Given the description of an element on the screen output the (x, y) to click on. 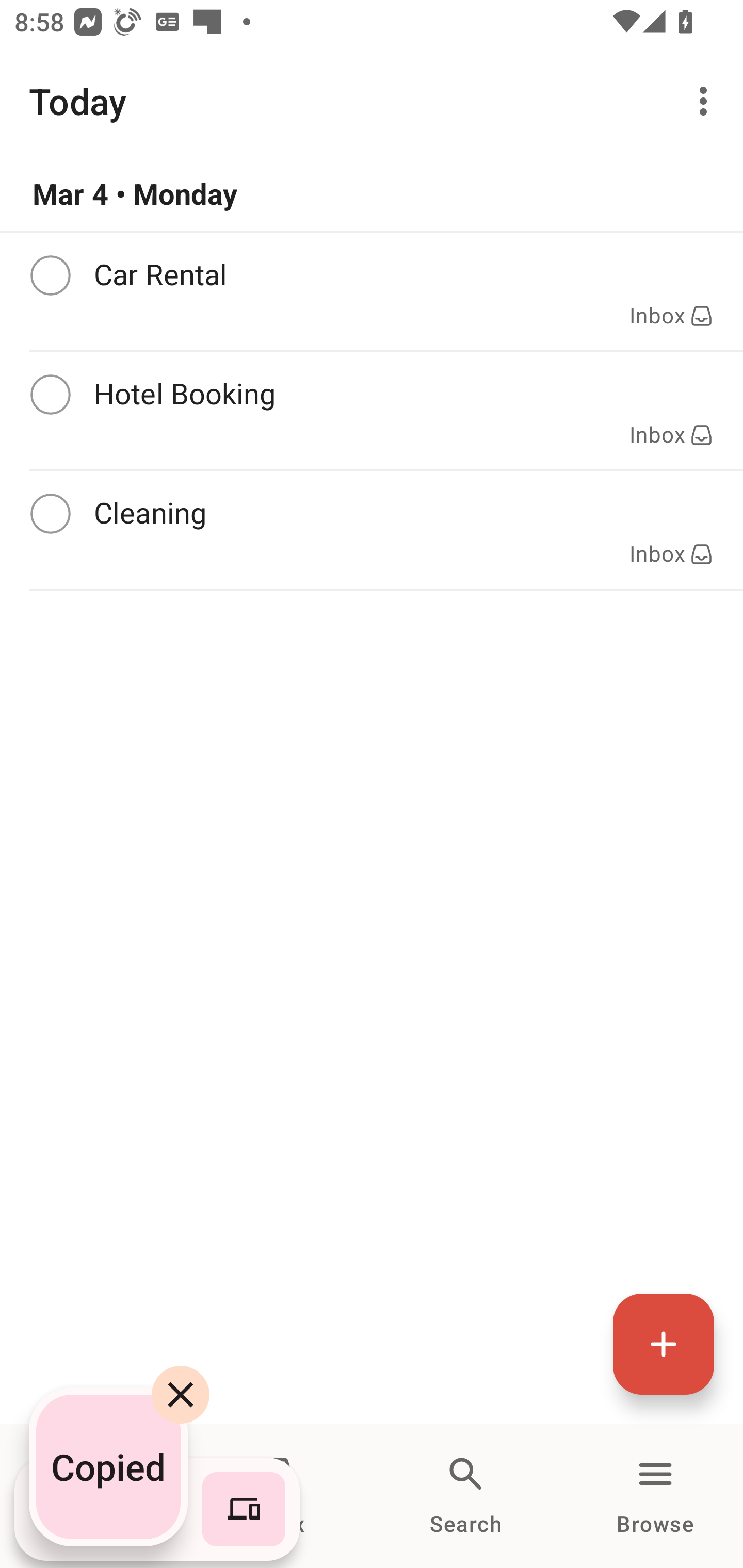
Today More options (371, 100)
More options (706, 101)
Mar 4 • Monday (371, 194)
Complete Car Rental Inbox (371, 291)
Complete (50, 275)
Complete Hotel Booking Inbox (371, 410)
Complete (50, 395)
Complete Cleaning Inbox (371, 529)
Complete (50, 514)
Quick add (663, 1343)
Search (465, 1495)
Browse (655, 1495)
